Given the description of an element on the screen output the (x, y) to click on. 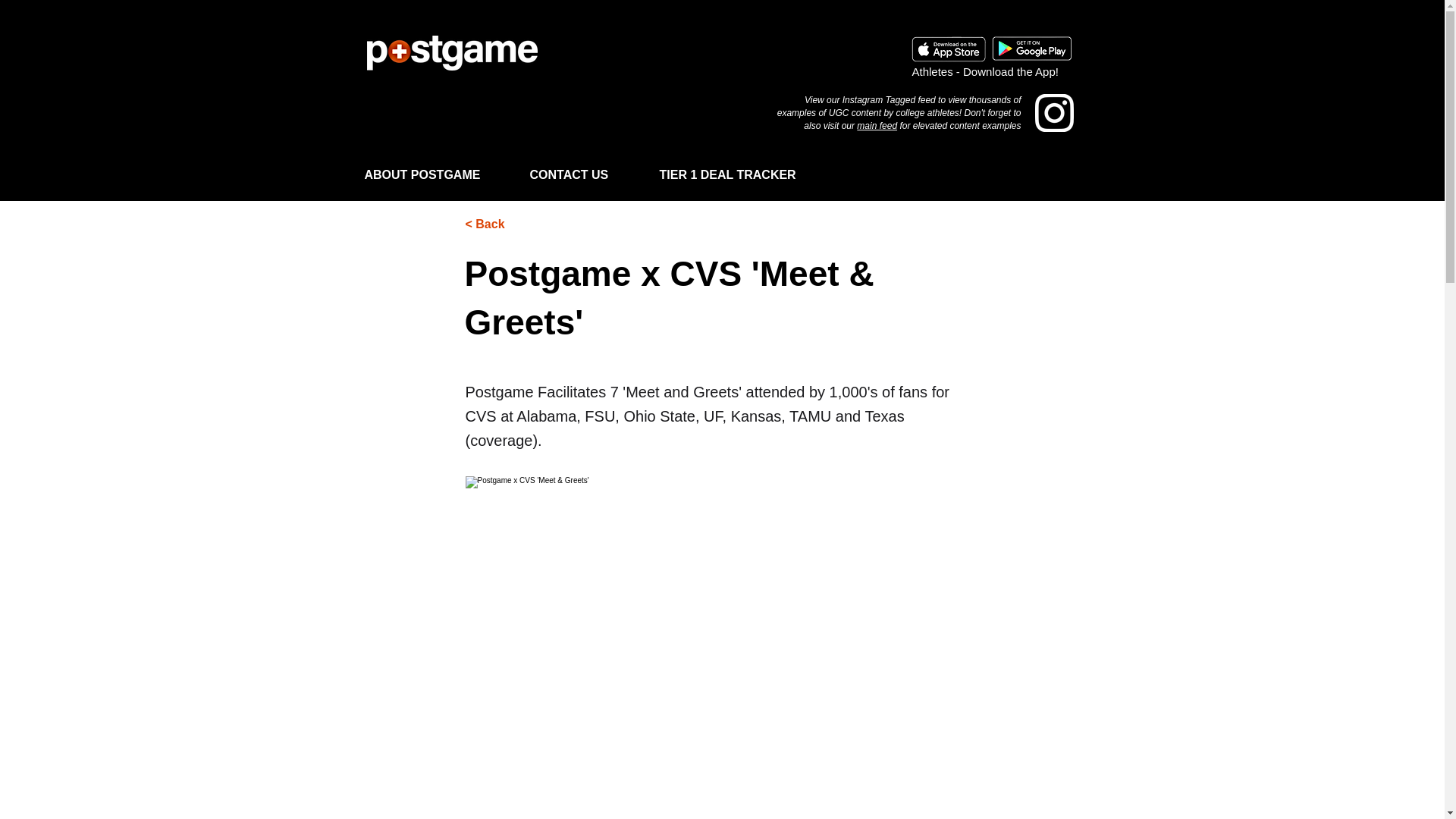
ABOUT POSTGAME (440, 168)
main feed (876, 125)
TIER 1 DEAL TRACKER (744, 168)
CONTACT US (587, 168)
